Given the description of an element on the screen output the (x, y) to click on. 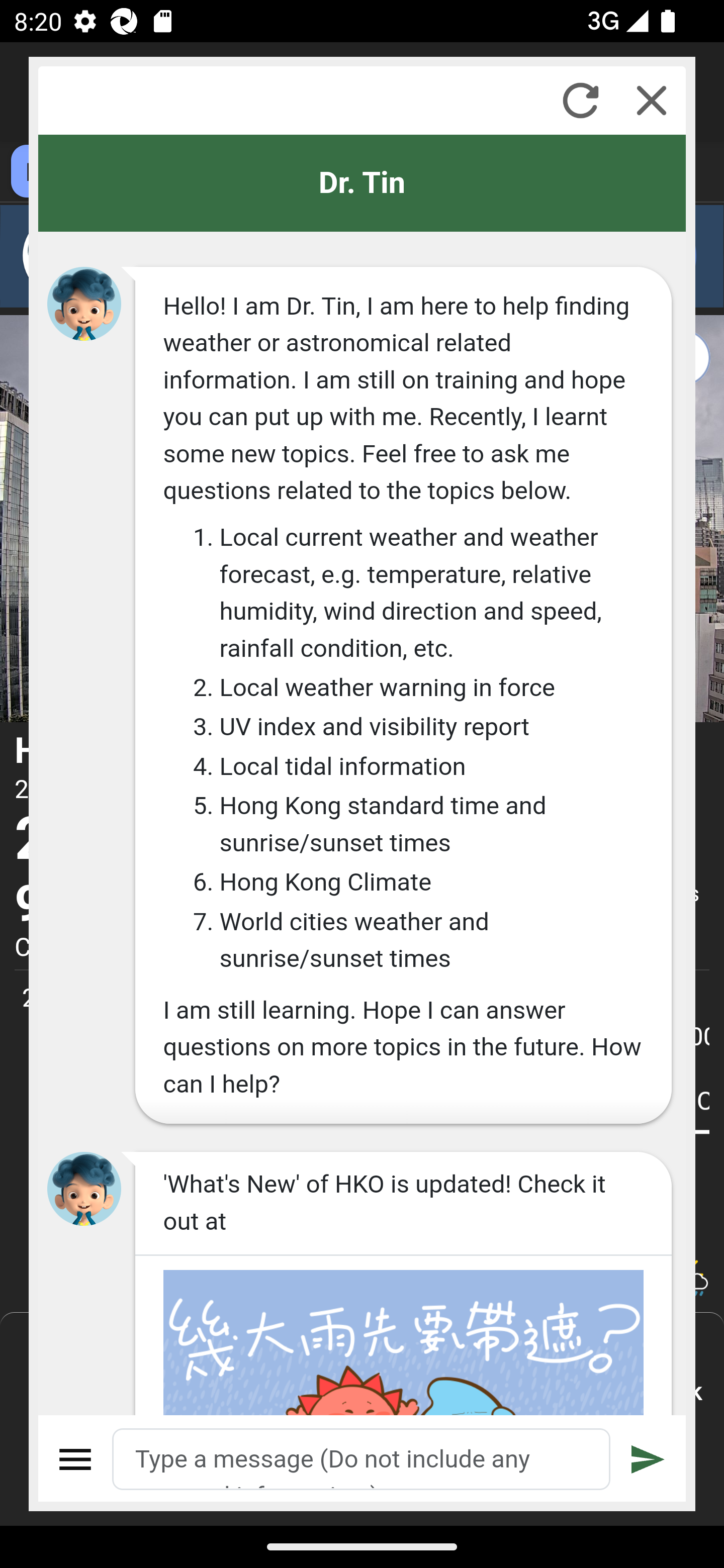
Refresh (580, 100)
Close (651, 100)
Menu (75, 1458)
Submit (648, 1458)
